Given the description of an element on the screen output the (x, y) to click on. 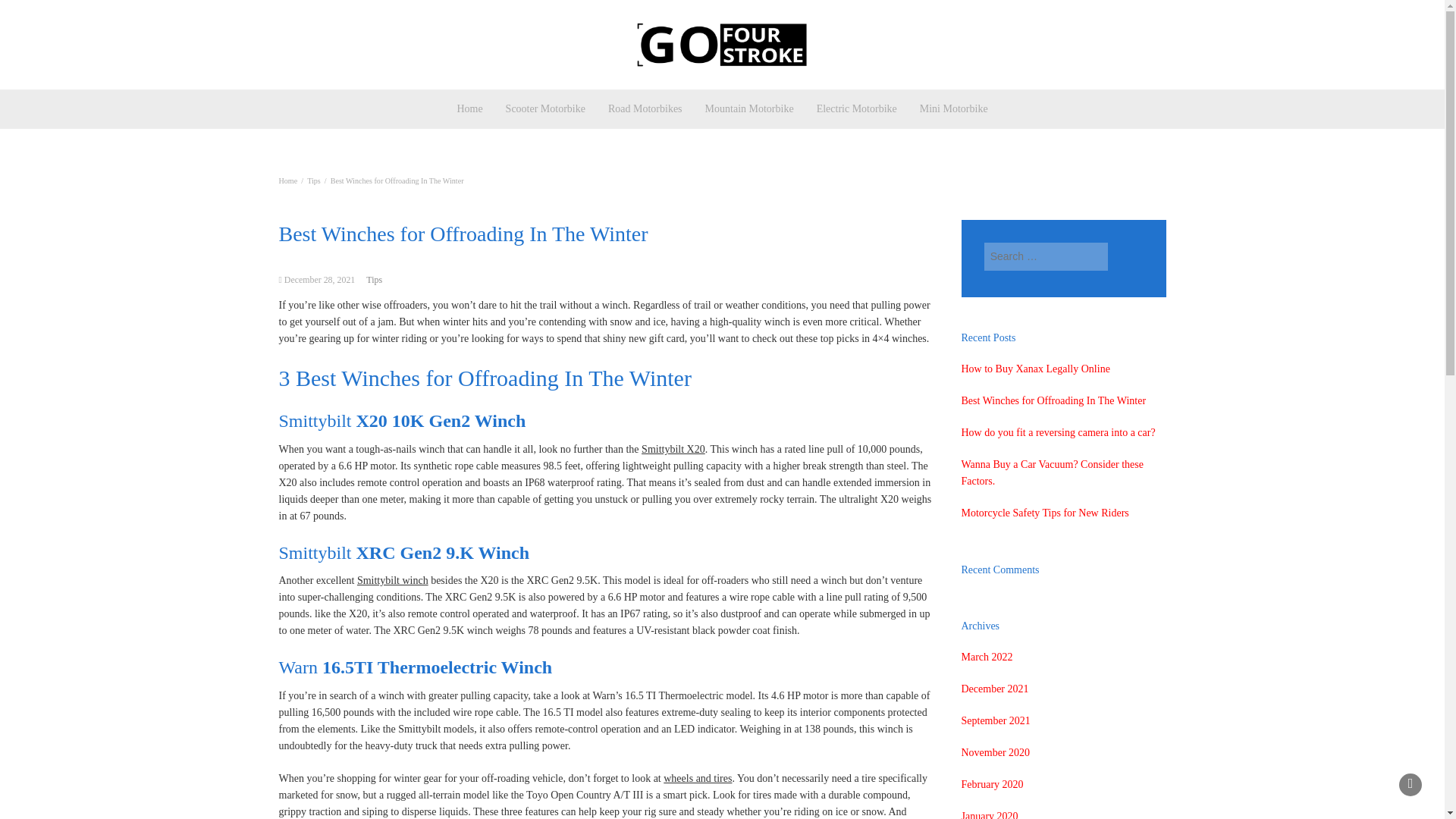
Scooter Motorbike (545, 108)
Road Motorbikes (645, 108)
Best Winches for Offroading In The Winter (1053, 400)
September 2021 (995, 720)
Search (1125, 256)
November 2020 (995, 752)
December 2021 (994, 688)
How to Buy Xanax Legally Online (1034, 368)
Search (1125, 256)
Mountain Motorbike (749, 108)
